Given the description of an element on the screen output the (x, y) to click on. 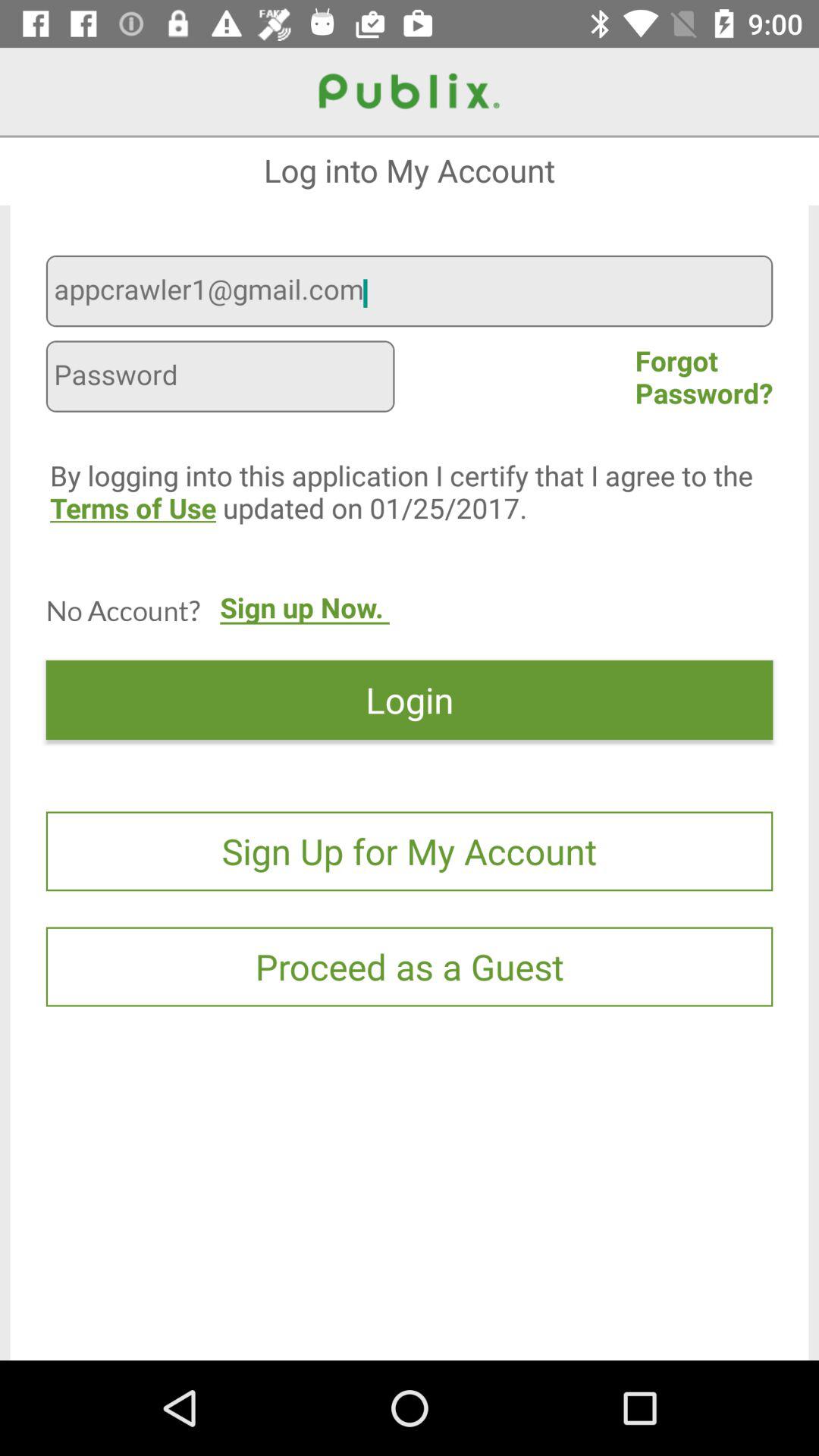
tap item above the login item (304, 623)
